Given the description of an element on the screen output the (x, y) to click on. 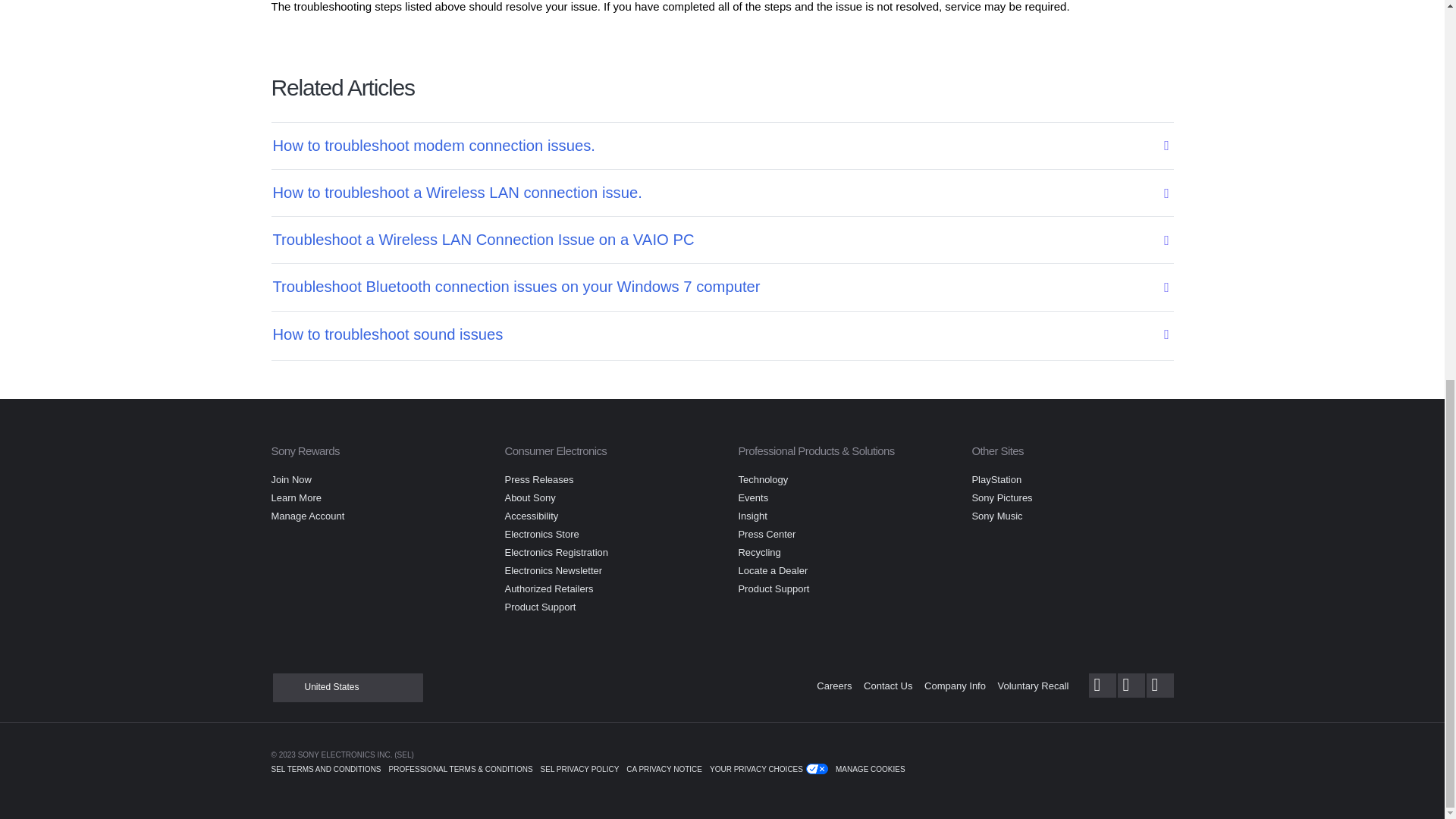
Accessibility (530, 515)
Troubleshoot a Wireless LAN Connection Issue on a VAIO PC (712, 239)
How to troubleshoot a Wireless LAN connection issue. (712, 192)
Join Now (290, 479)
About Sony (528, 497)
How to troubleshoot sound issues (712, 334)
How to troubleshoot modem connection issues. (712, 146)
Press Releases (538, 479)
Electronics Newsletter (552, 570)
Learn More (295, 497)
Manage Account (307, 515)
Electronics Registration (555, 552)
Electronics Store (540, 533)
